Given the description of an element on the screen output the (x, y) to click on. 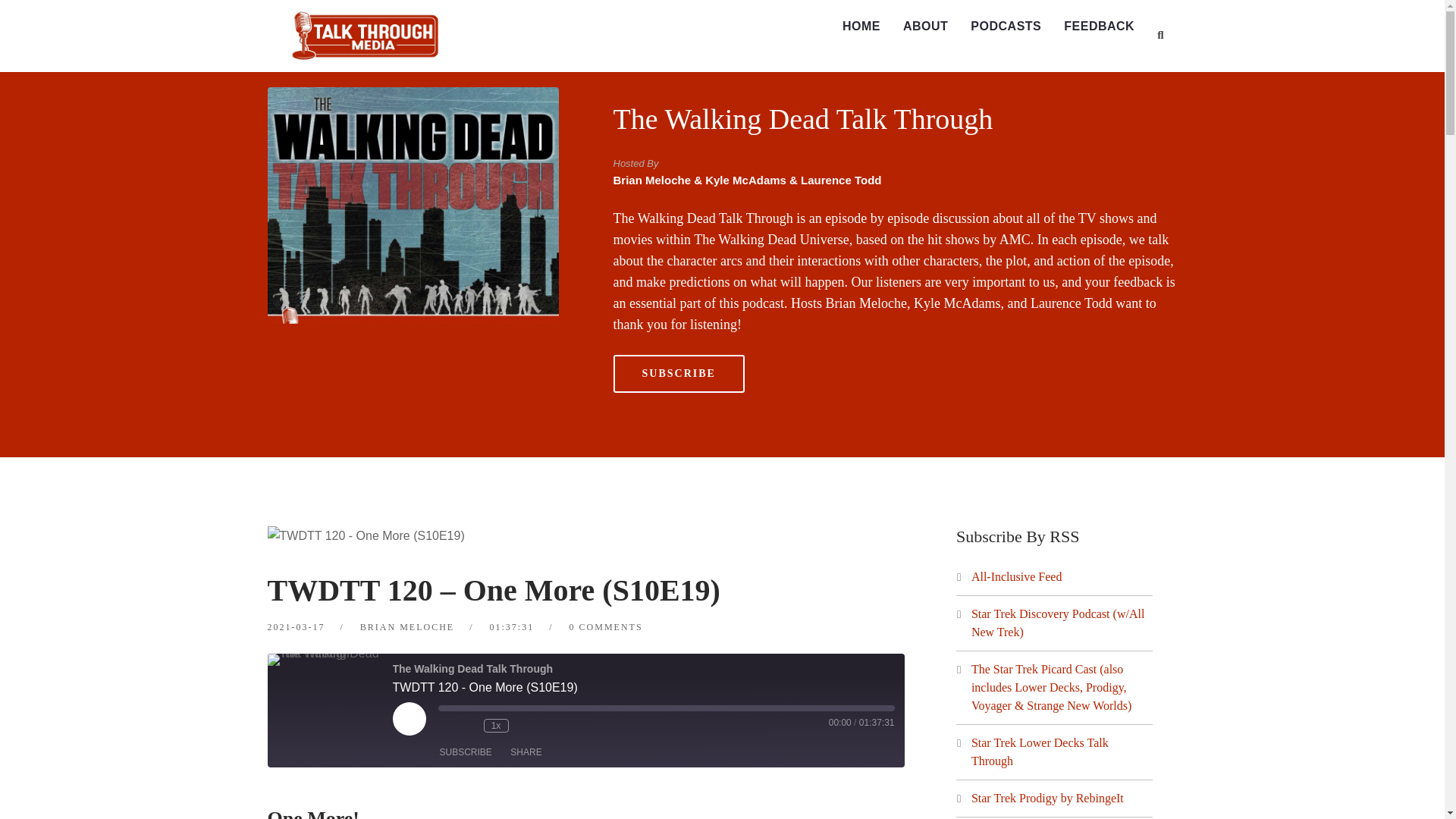
BRIAN MELOCHE (406, 626)
SUBSCRIBE (678, 373)
Play (409, 718)
FEEDBACK (1098, 26)
Rewind 10 seconds (468, 725)
HOME (861, 26)
Talk Through Media (363, 34)
Playback Speed (495, 725)
PODCASTS (1005, 26)
facebook (623, 431)
Submit (29, 20)
ABOUT (925, 26)
The Walking Dead Talk Through (802, 119)
0 COMMENTS (606, 626)
